Given the description of an element on the screen output the (x, y) to click on. 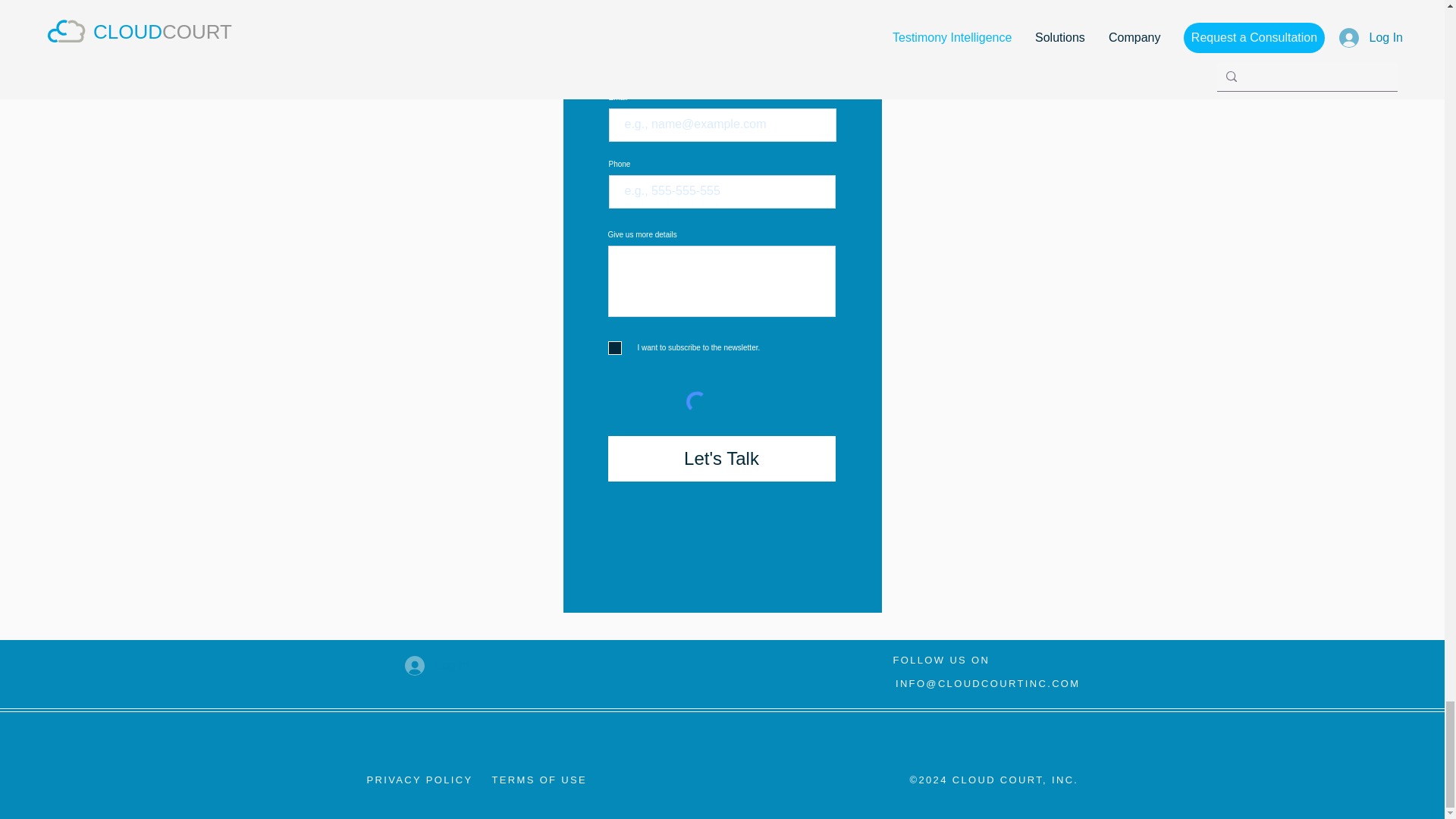
Let's Talk (721, 458)
TERMS OF USE (539, 779)
Log In (436, 665)
PRIVACY POLICY (419, 779)
